Given the description of an element on the screen output the (x, y) to click on. 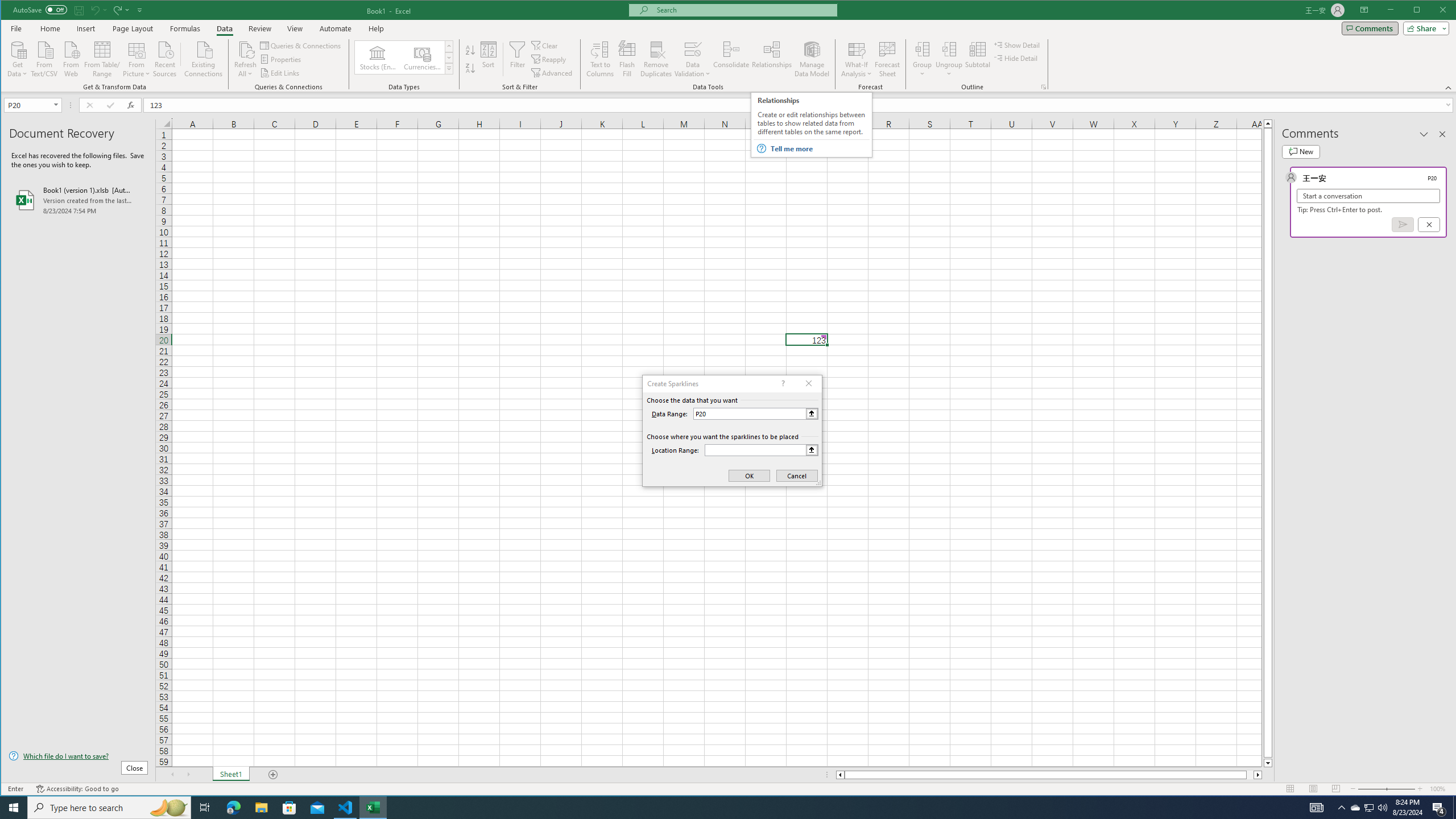
Cancel (1428, 224)
Post comment (Ctrl + Enter) (1402, 224)
